Given the description of an element on the screen output the (x, y) to click on. 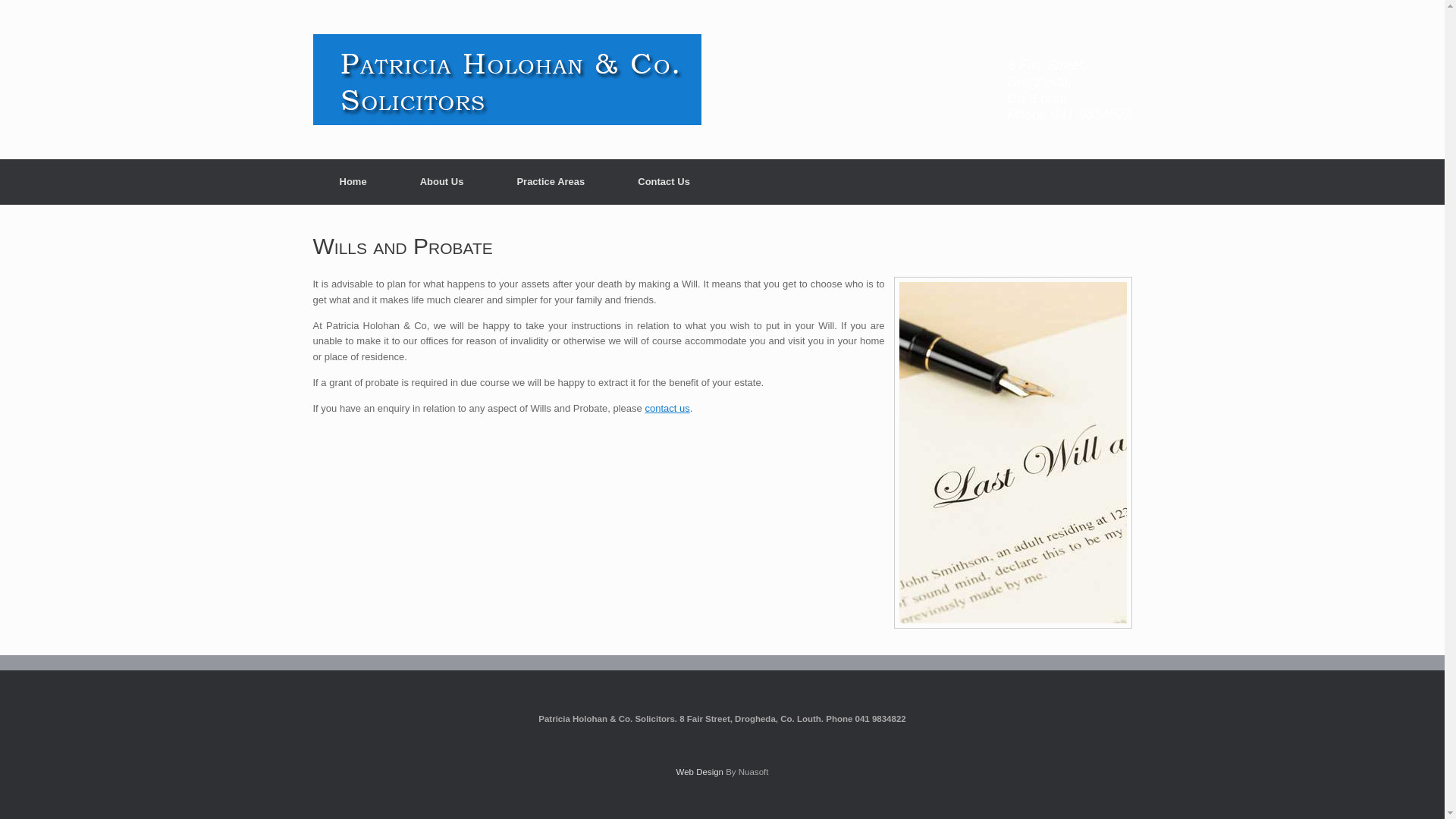
Contact Us (663, 181)
contact us (666, 408)
Home (353, 181)
Practice Areas (550, 181)
Web Design (700, 771)
About Us (441, 181)
